Given the description of an element on the screen output the (x, y) to click on. 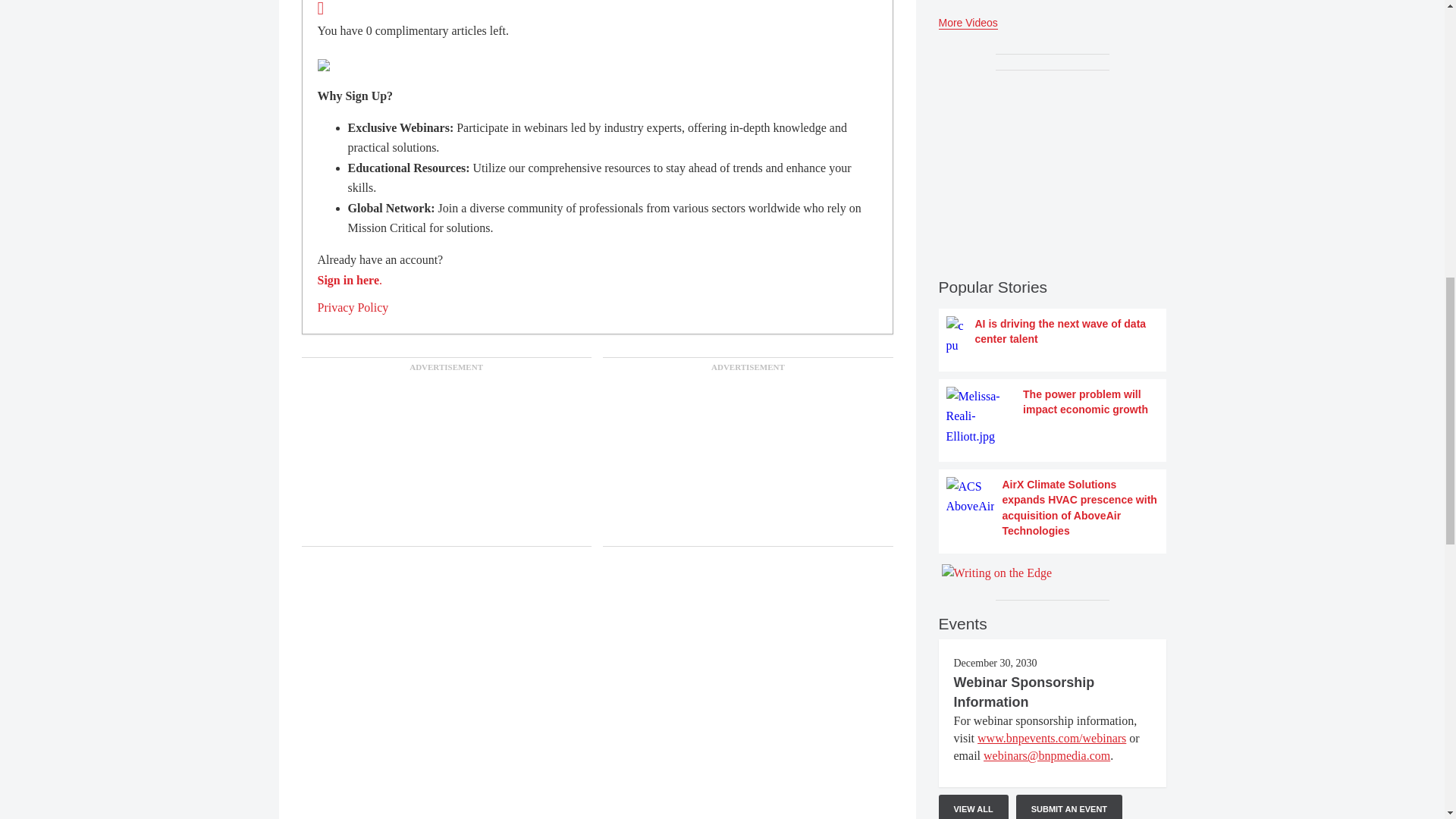
AI is driving the next wave of data center talent (1052, 336)
Webinar Sponsorship Information (1023, 692)
The power problem will impact economic growth (1052, 416)
